Given the description of an element on the screen output the (x, y) to click on. 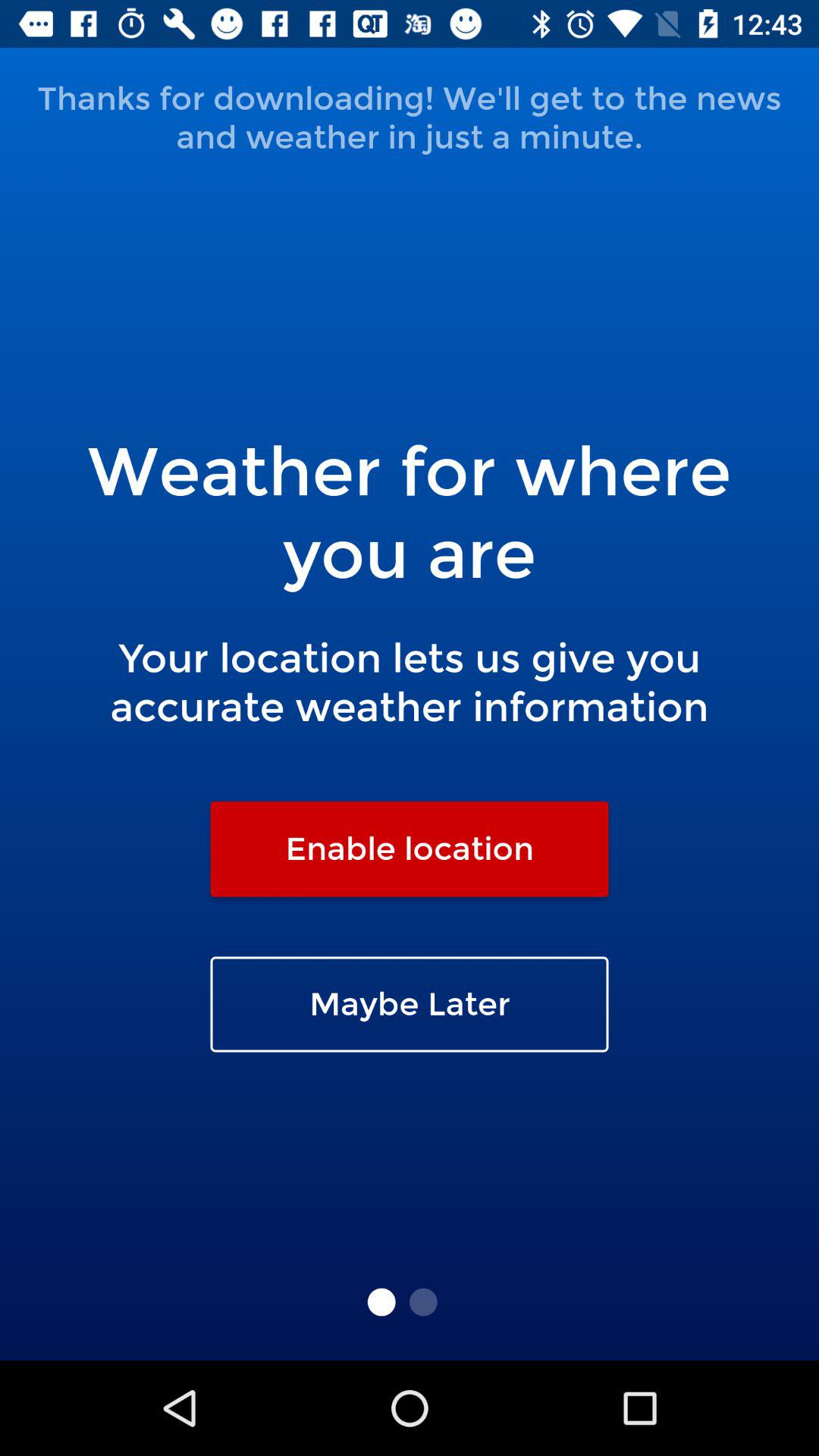
open item below the enable location (409, 1004)
